Given the description of an element on the screen output the (x, y) to click on. 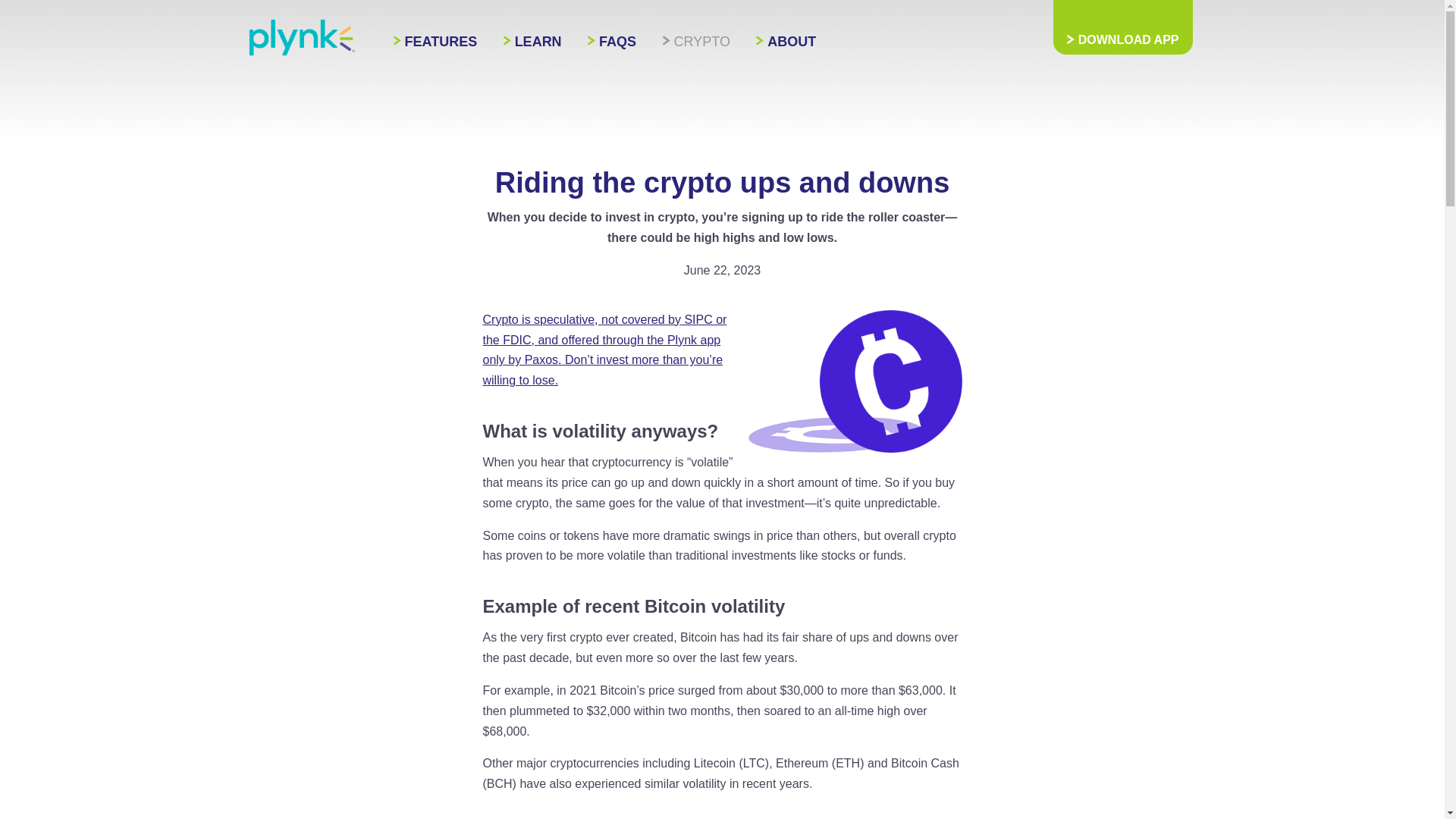
Plynk logo (301, 37)
FAQS (612, 41)
DOWNLOAD APP (1122, 27)
CRYPTO (696, 41)
FEATURES (435, 41)
LEARN (532, 41)
ABOUT (785, 41)
